Given the description of an element on the screen output the (x, y) to click on. 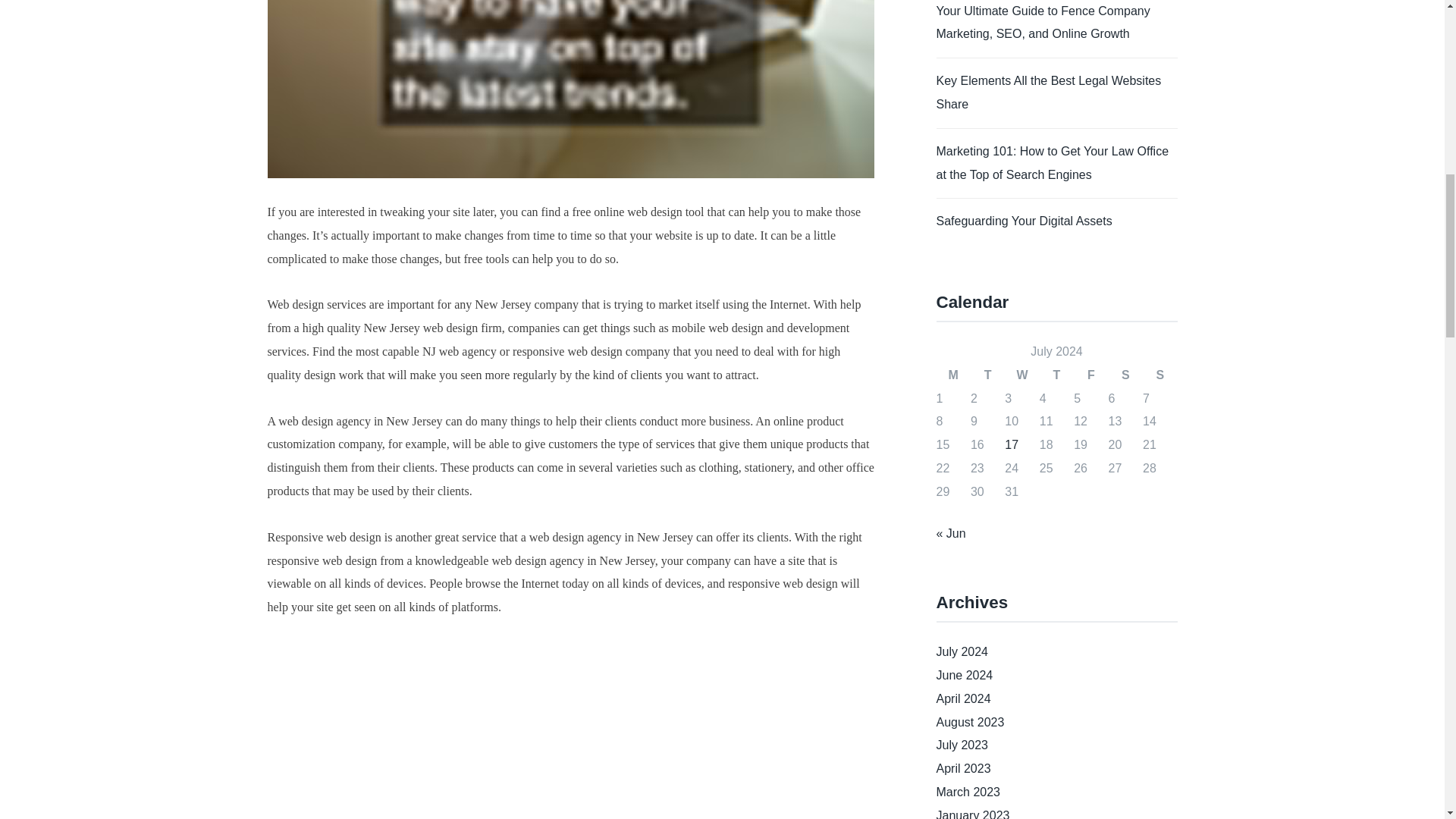
Wednesday (1021, 375)
January 2023 (972, 814)
Safeguarding Your Digital Assets (1024, 220)
Key Elements All the Best Legal Websites Share (1048, 92)
Friday (1091, 375)
August 2023 (970, 721)
Sunday (1159, 375)
5 Benefits Of Hiring Web Design Company (509, 730)
March 2023 (968, 791)
Saturday (1125, 375)
Tuesday (987, 375)
Monday (952, 375)
April 2024 (963, 698)
